Given the description of an element on the screen output the (x, y) to click on. 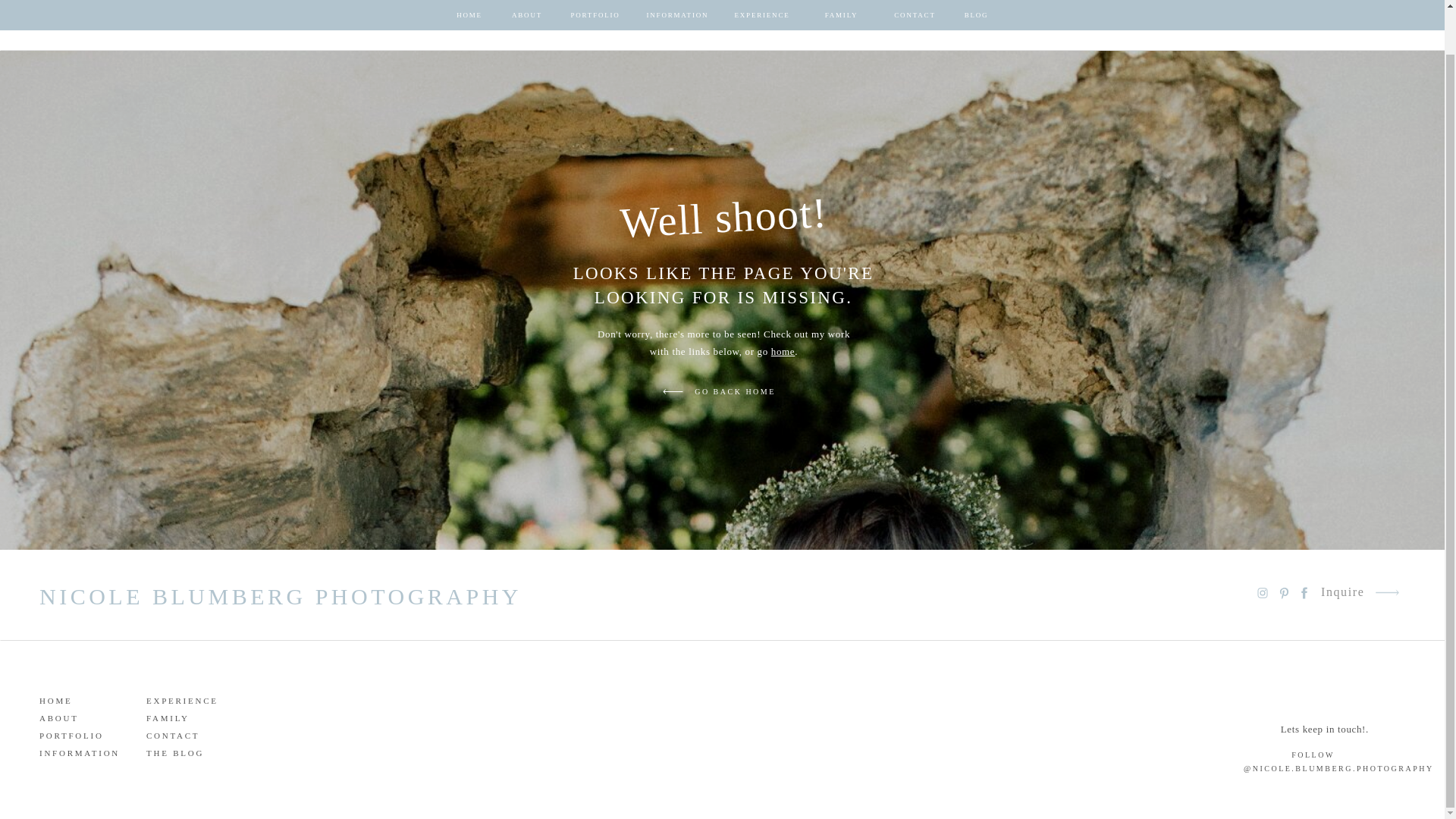
arrow (1407, 19)
HOME (82, 698)
NICOLE BLUMBERG PHOTOGRAPHY (291, 593)
Inquire  (1360, 16)
arrow (672, 391)
INFORMATION (82, 750)
NICOLE BLUMBERG PHOTOGRAPHY  (722, 18)
arrow (672, 391)
FAMILY (189, 715)
LOOKS LIKE THE PAGE YOU'RE LOOKING FOR IS MISSING. (723, 277)
